Given the description of an element on the screen output the (x, y) to click on. 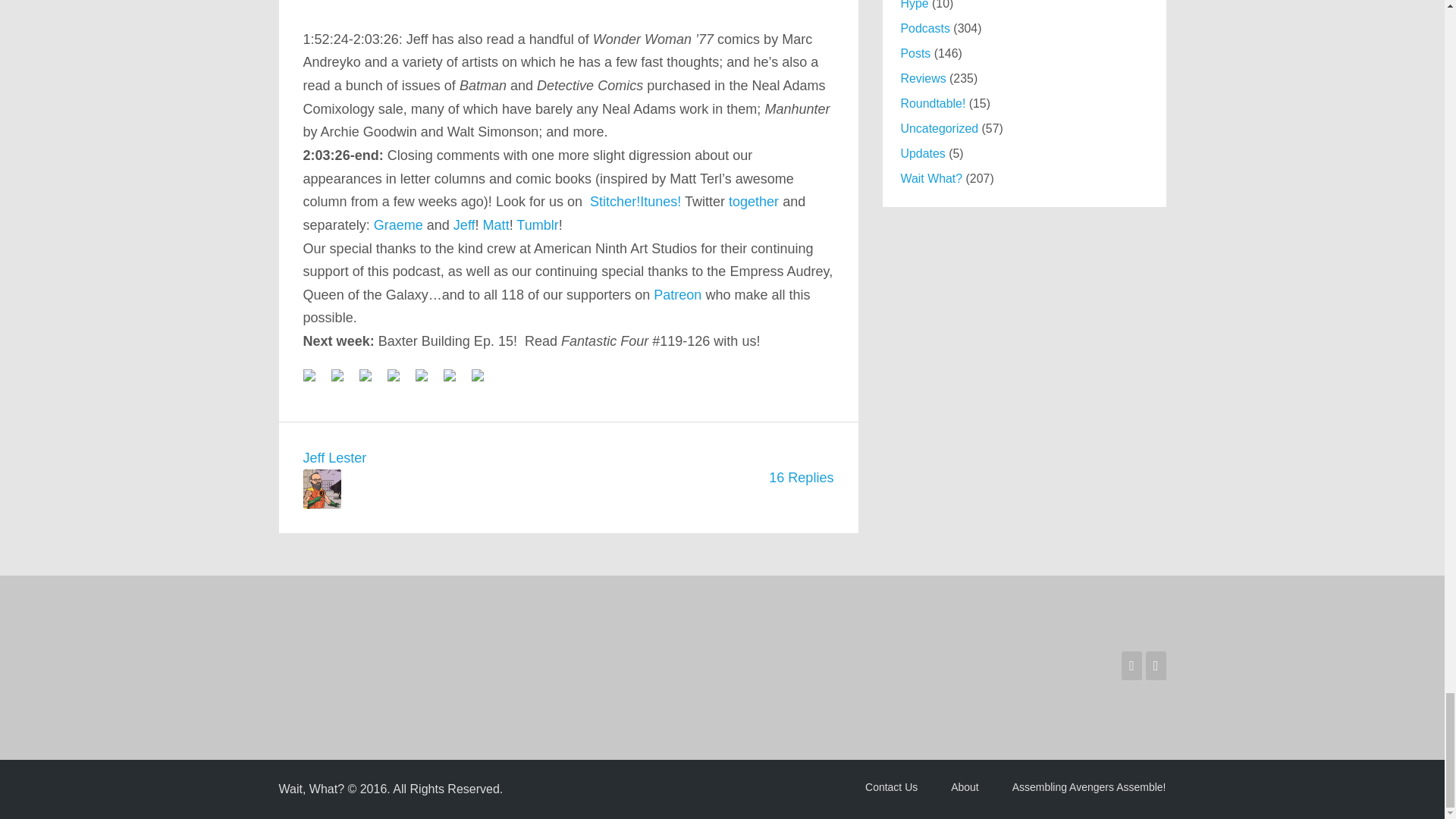
Pin it with Pinterest (399, 381)
Share on Facebook (314, 381)
Share on Twitter (343, 381)
Share on Reddit (365, 375)
Share on Linkedin (421, 375)
Share on Facebook (308, 375)
Pin it with Pinterest (392, 375)
Share on tumblr (449, 375)
Share on Reddit (371, 381)
Share on Twitter (337, 375)
Share on Linkedin (426, 381)
Share on tumblr (455, 381)
